Given the description of an element on the screen output the (x, y) to click on. 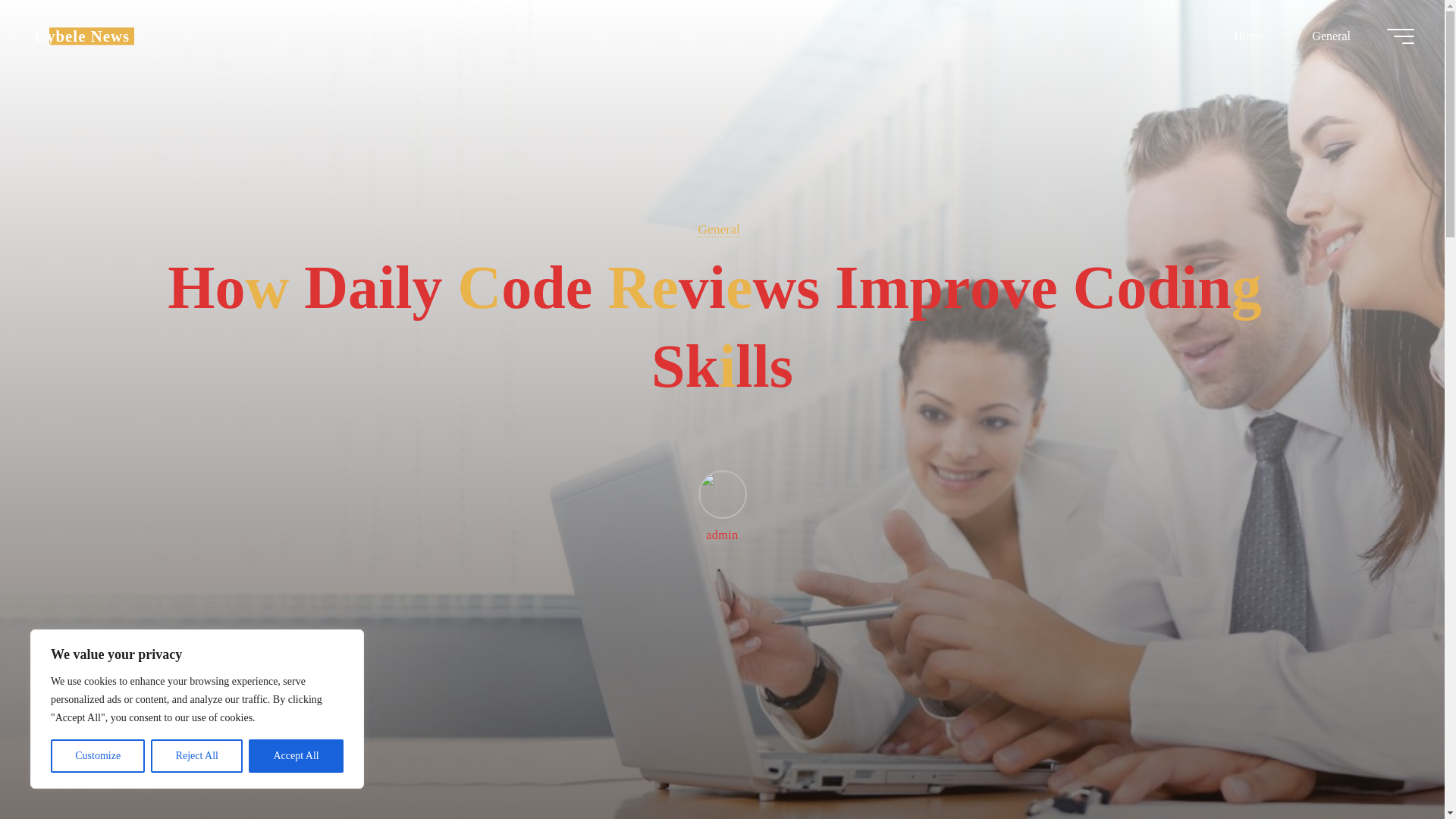
Reject All (197, 756)
Home (1248, 35)
Blog (81, 36)
Read more (721, 724)
Cybele News (81, 36)
Accept All (295, 756)
General (1330, 35)
General (718, 229)
Customize (97, 756)
